Given the description of an element on the screen output the (x, y) to click on. 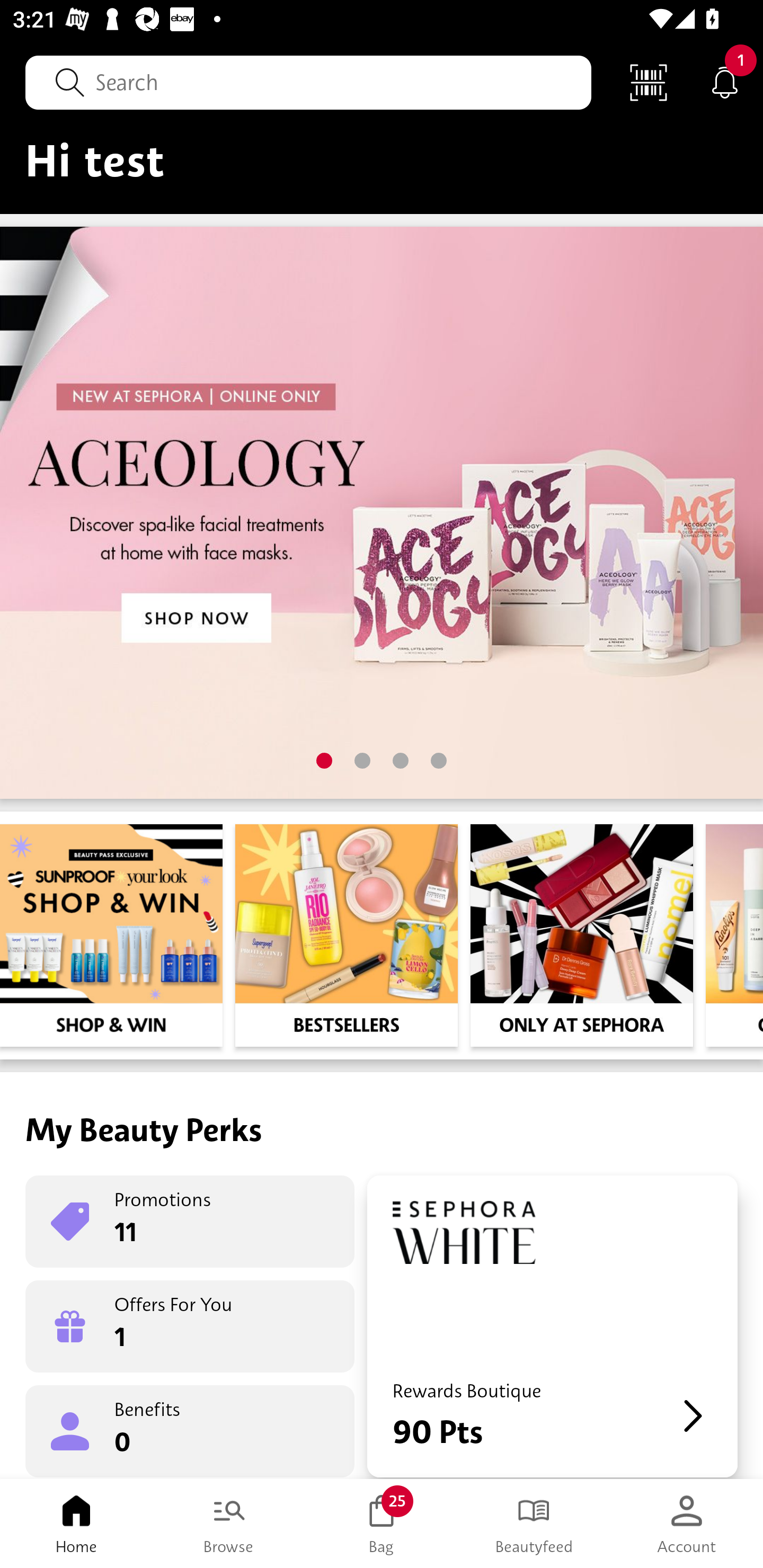
Scan Code (648, 81)
Notifications (724, 81)
Search (308, 81)
Promotions 11 (189, 1221)
Rewards Boutique 90 Pts (552, 1326)
Offers For You 1 (189, 1326)
Benefits 0 (189, 1430)
Browse (228, 1523)
Bag 25 Bag (381, 1523)
Beautyfeed (533, 1523)
Account (686, 1523)
